Given the description of an element on the screen output the (x, y) to click on. 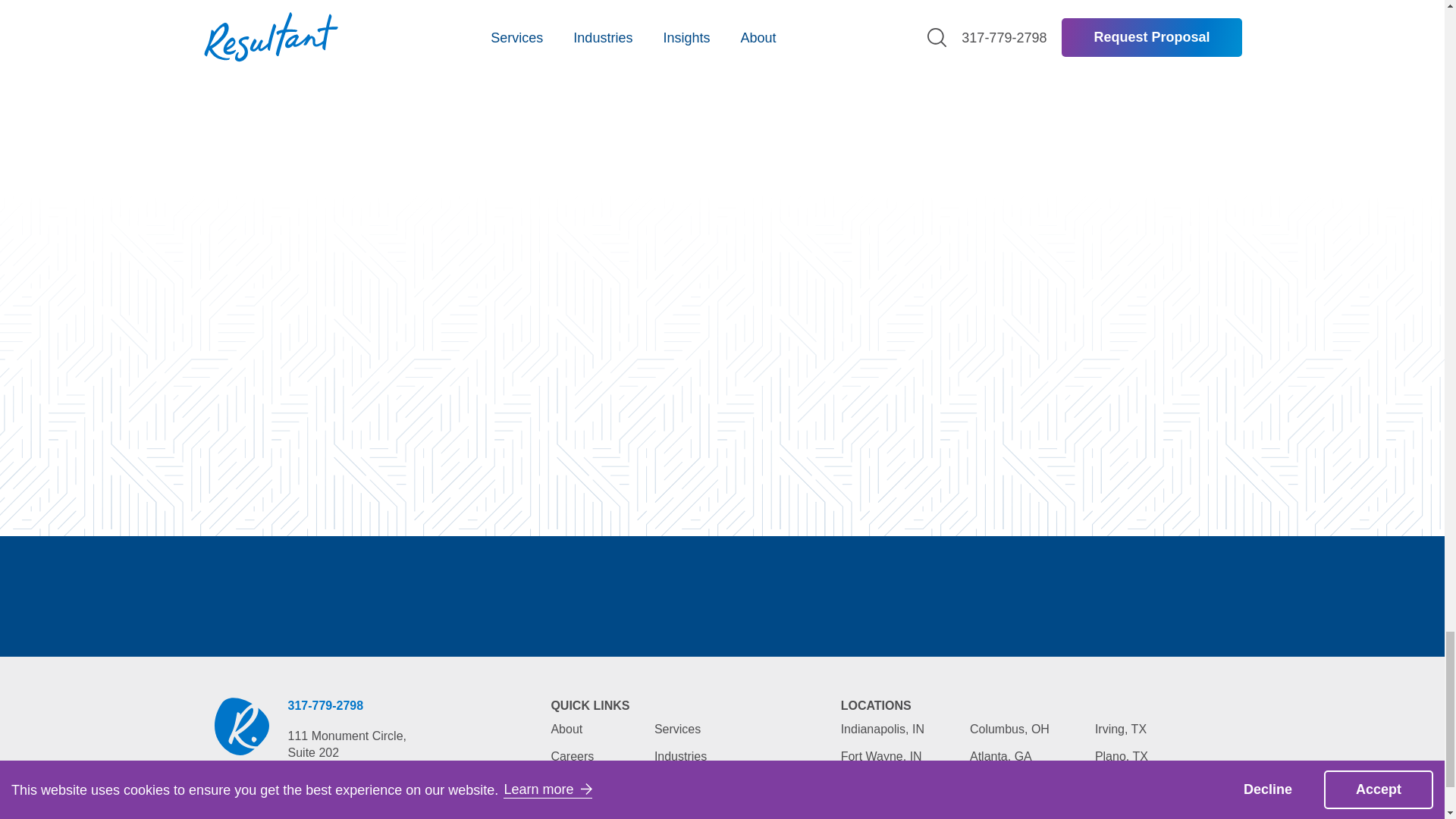
Resultant logo (240, 726)
